Given the description of an element on the screen output the (x, y) to click on. 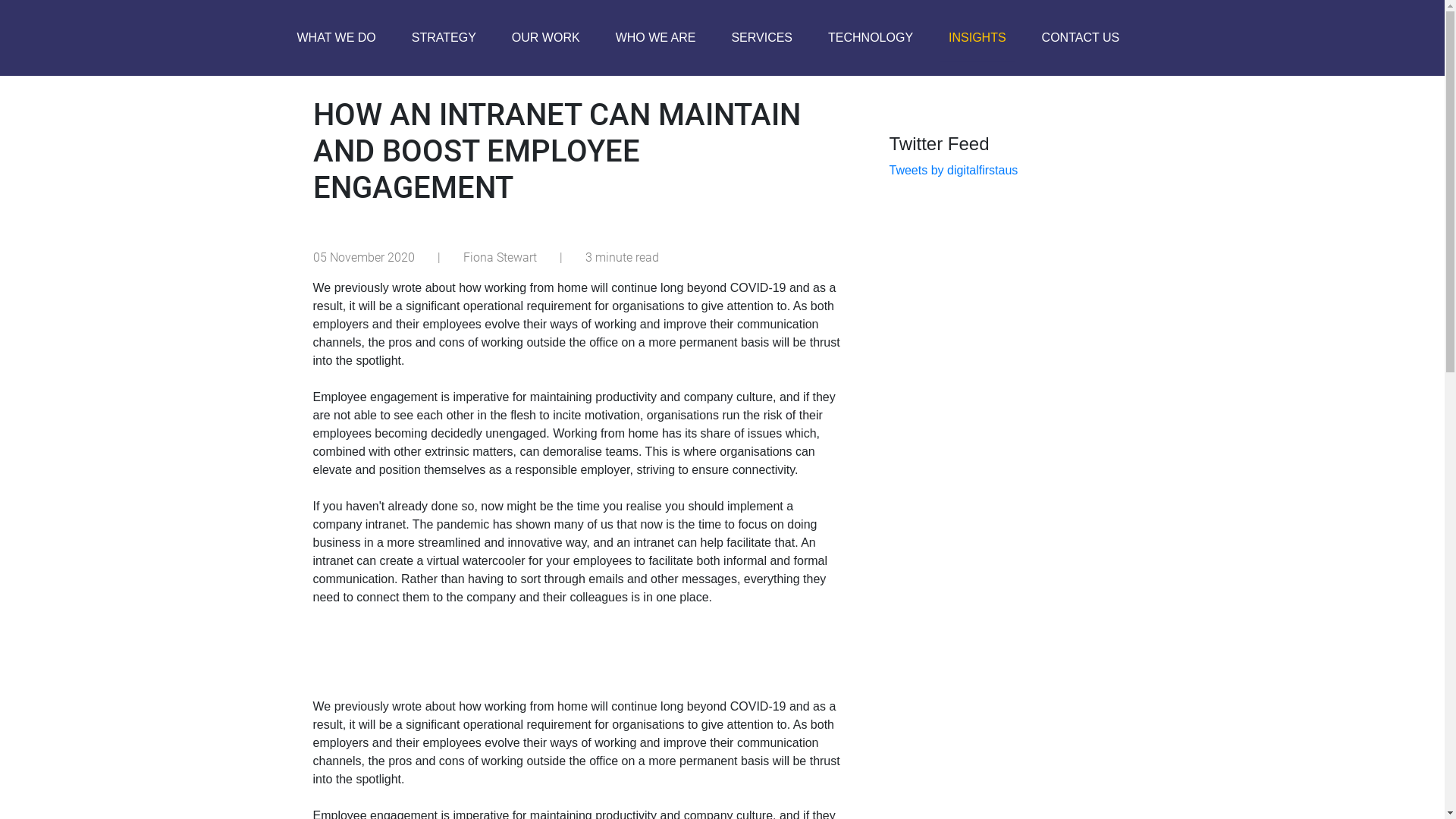
Tweets by digitalfirstaus Element type: text (952, 169)
TECHNOLOGY Element type: text (870, 37)
OUR WORK Element type: text (545, 37)
INSIGHTS Element type: text (977, 37)
SERVICES Element type: text (761, 37)
STRATEGY Element type: text (443, 37)
WHAT WE DO Element type: text (336, 37)
WHO WE ARE Element type: text (655, 37)
CONTACT US Element type: text (1080, 37)
